Given the description of an element on the screen output the (x, y) to click on. 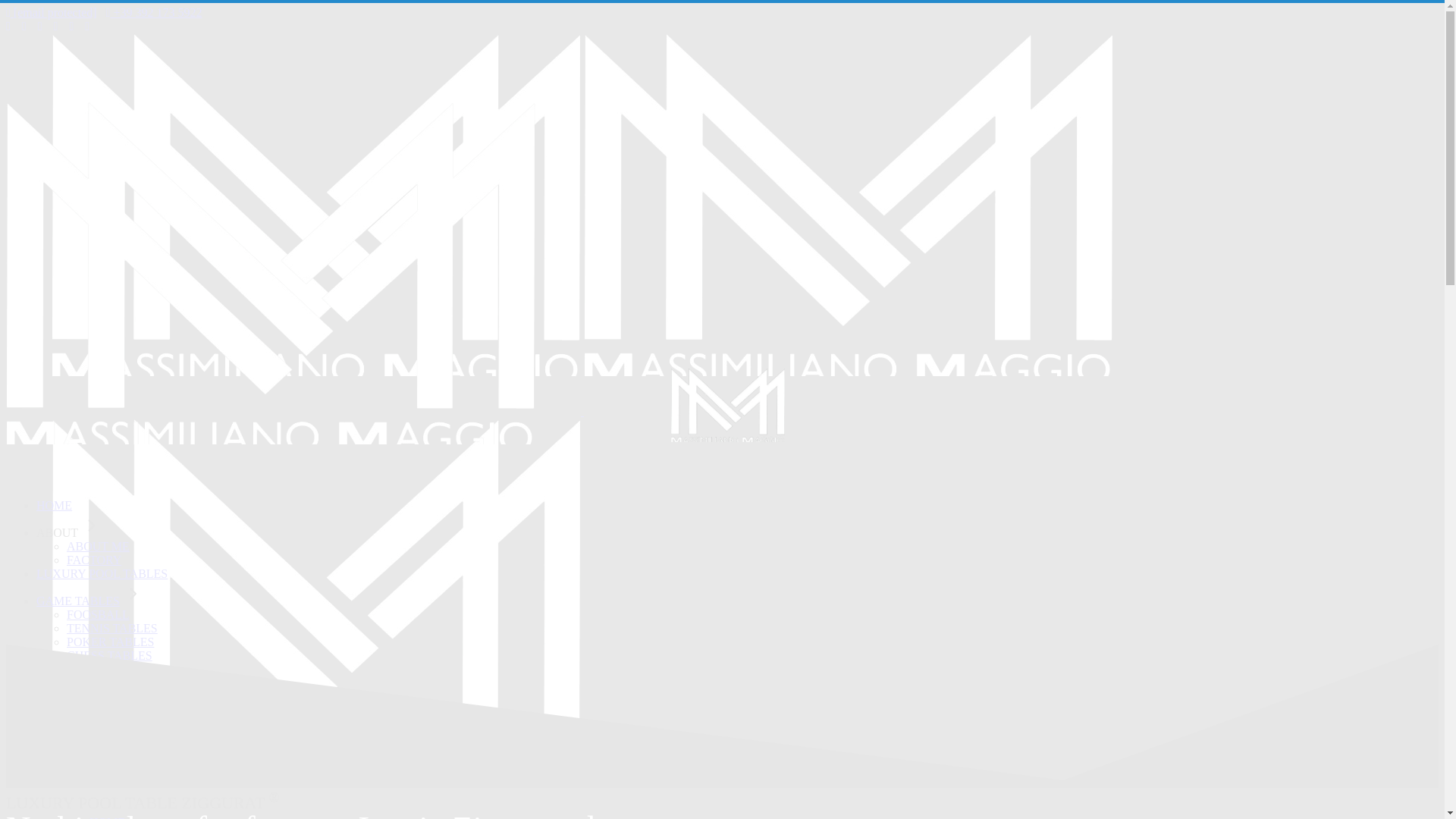
HOME (107, 817)
